Given the description of an element on the screen output the (x, y) to click on. 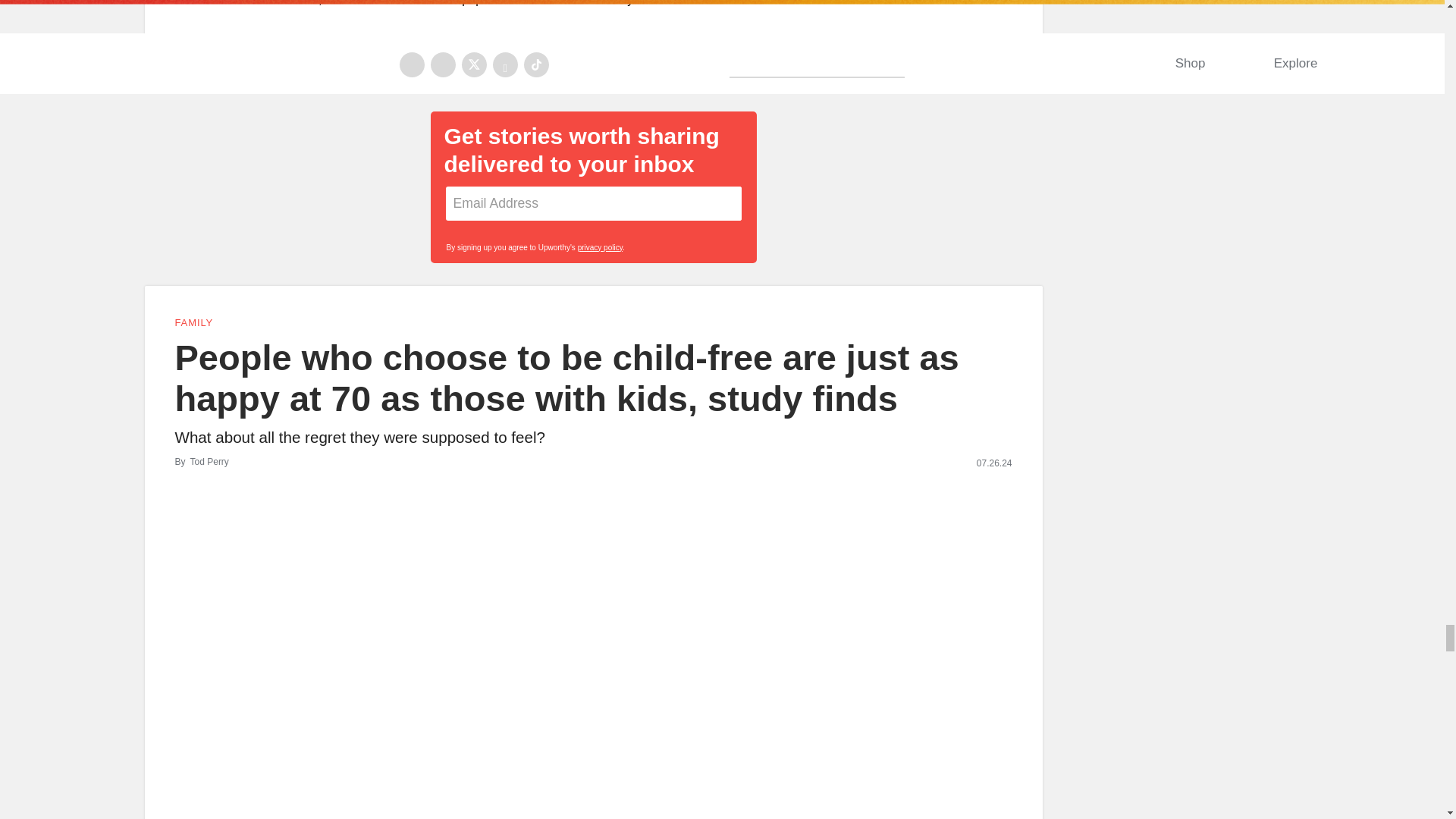
Copy this link to clipboard (1003, 48)
